Given the description of an element on the screen output the (x, y) to click on. 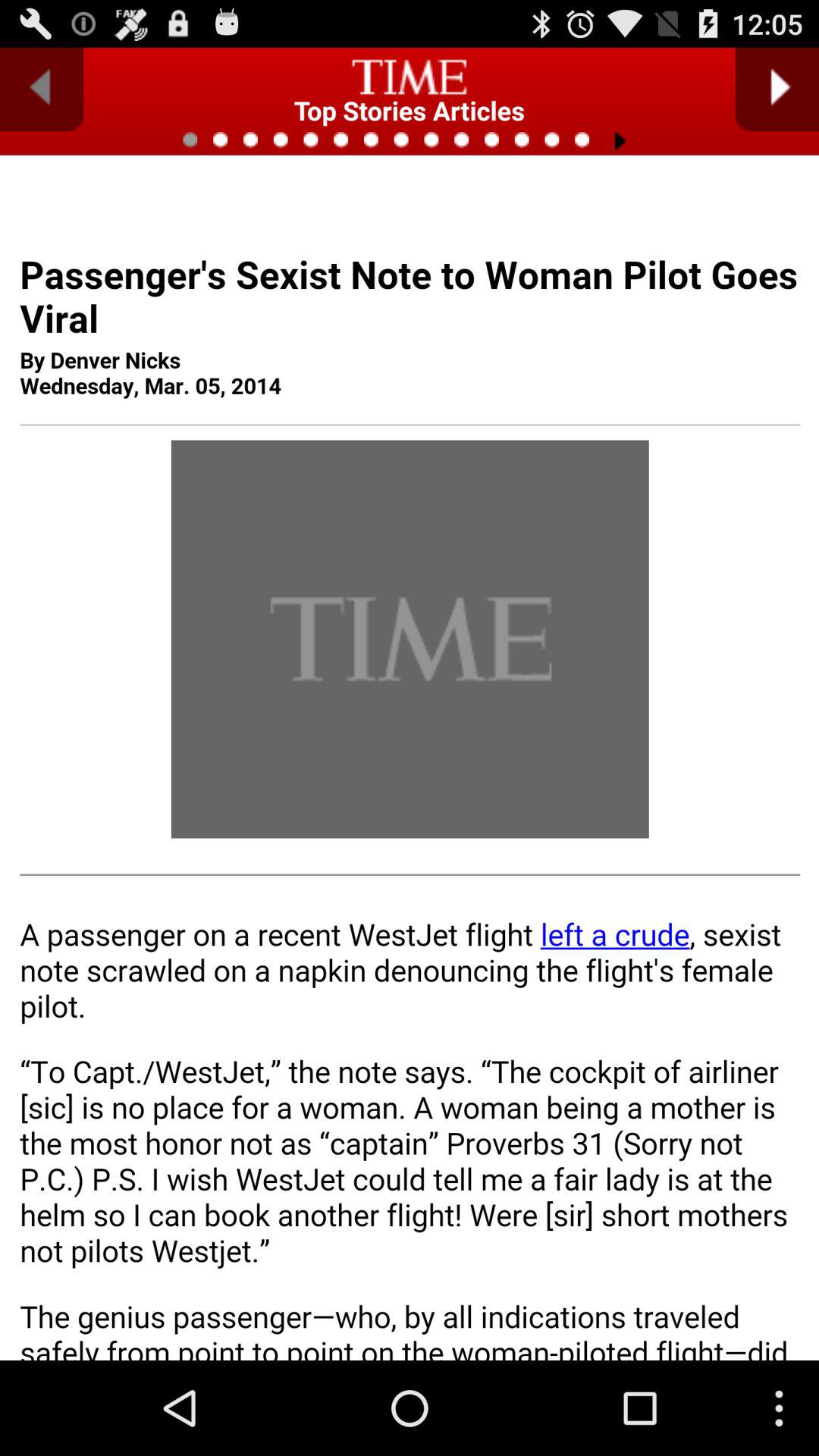
advertisement (409, 807)
